Given the description of an element on the screen output the (x, y) to click on. 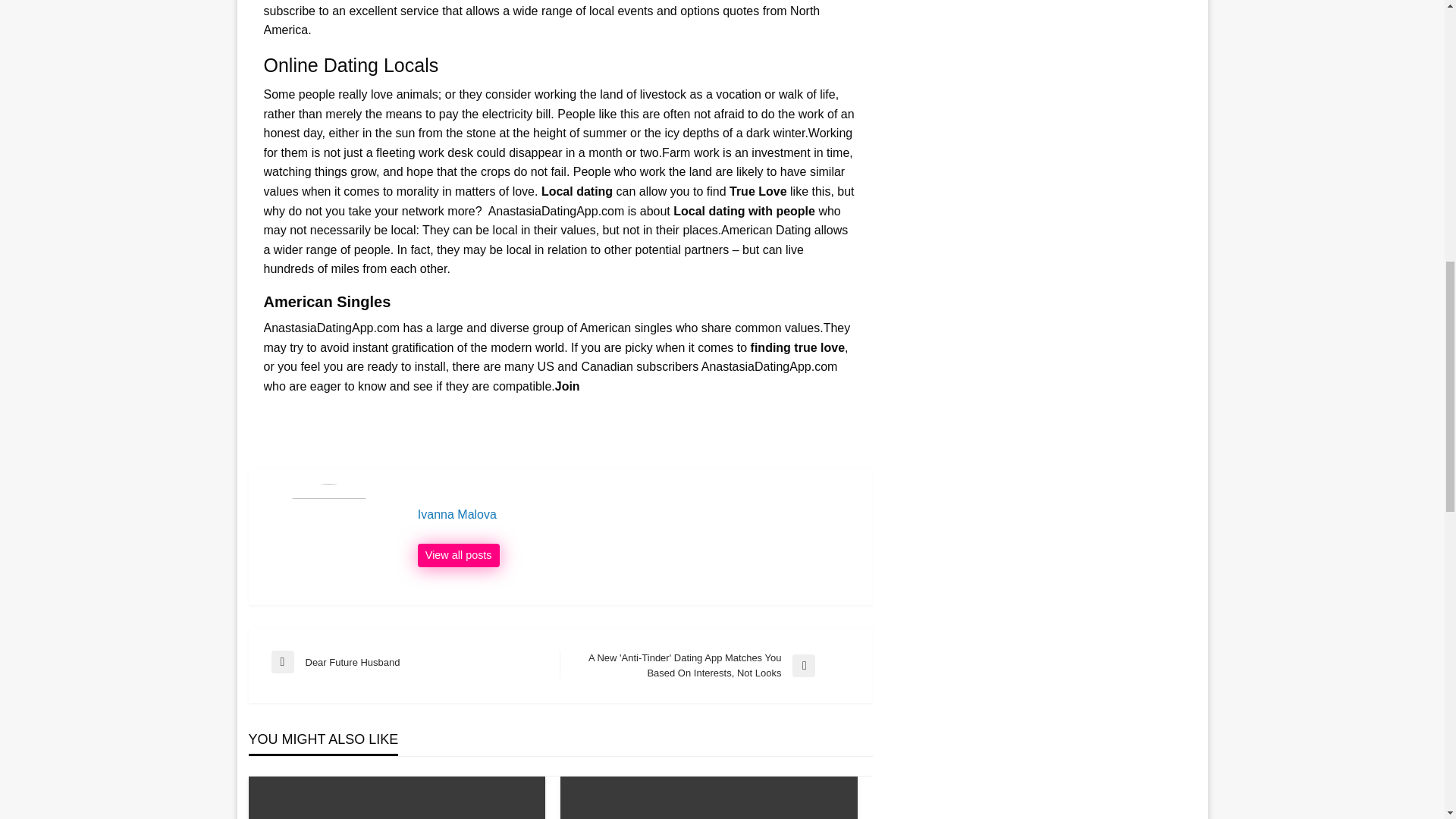
View all posts (458, 555)
Ivanna Malova (637, 514)
Ivanna Malova (415, 661)
Ivanna Malova (458, 555)
